Given the description of an element on the screen output the (x, y) to click on. 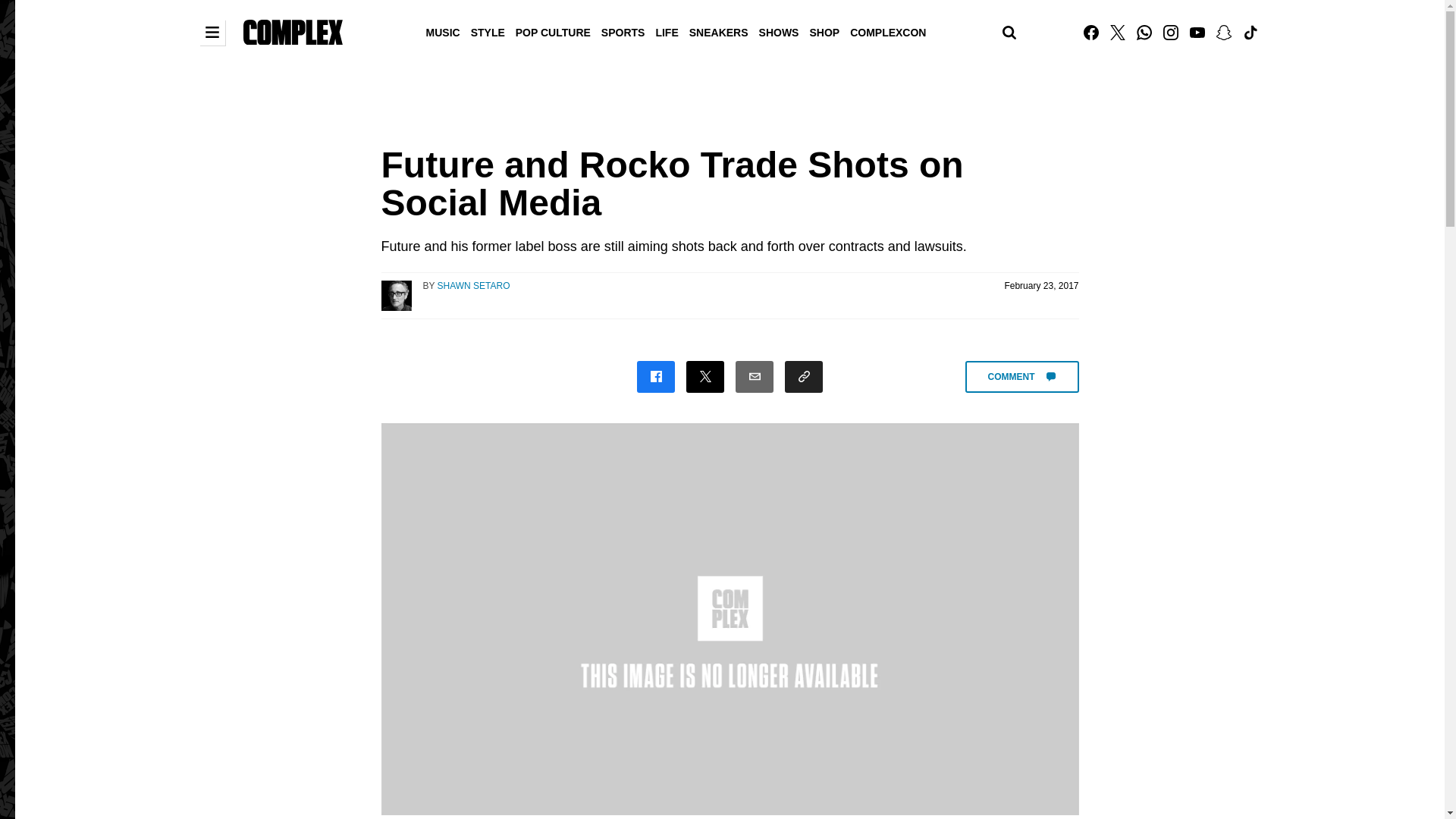
STYLE (488, 30)
POP CULTURE (553, 30)
COMPLEXCON (887, 30)
LIFE (665, 30)
MUSIC (442, 30)
SPORTS (622, 30)
SNEAKERS (719, 30)
SHOP (823, 30)
SHOWS (779, 30)
